Given the description of an element on the screen output the (x, y) to click on. 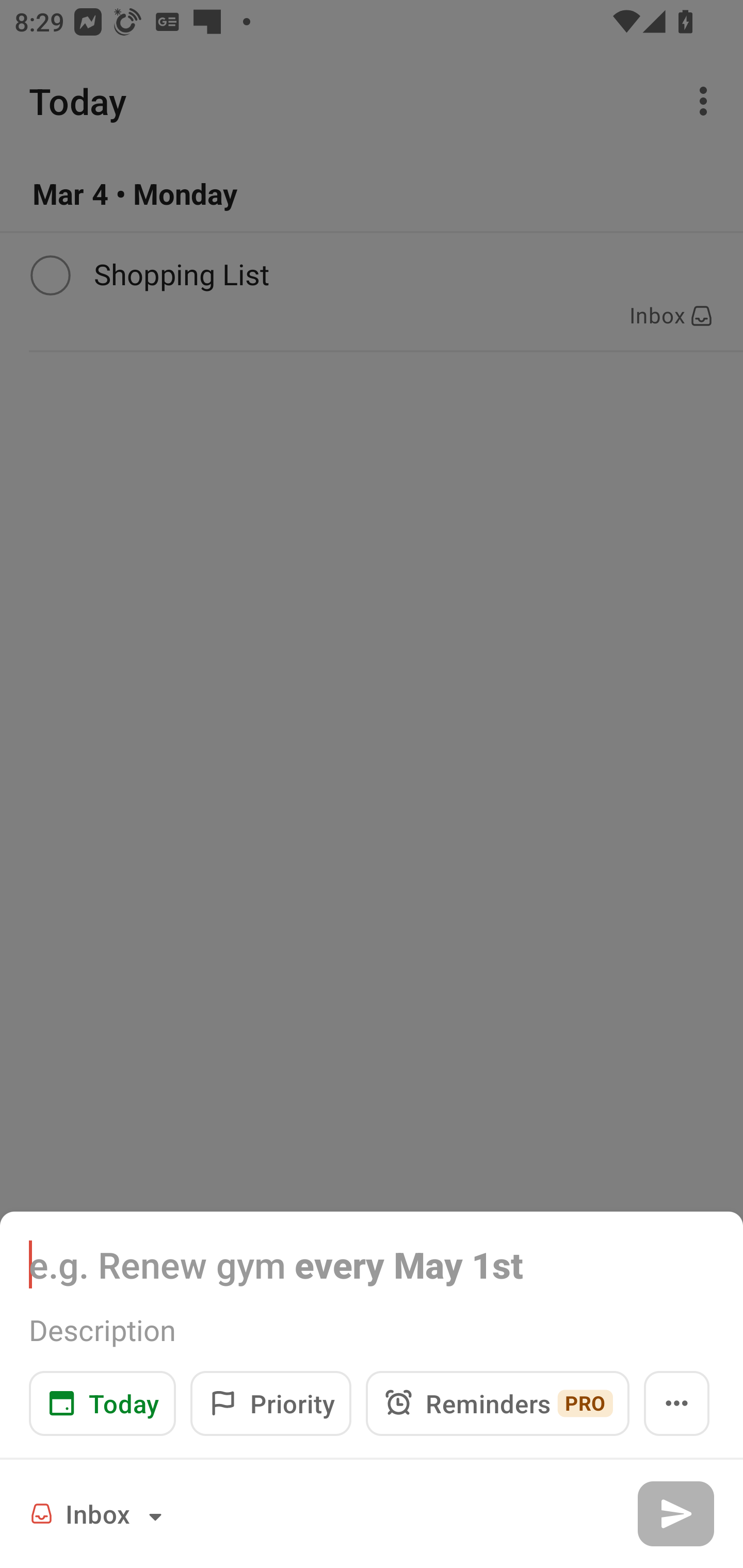
e.g. Renew gym every May 1st (371, 1264)
Description (371, 1330)
Today Date (102, 1403)
Priority (270, 1403)
Reminders PRO Reminders (497, 1403)
Open menu (676, 1403)
Inbox Project (99, 1513)
Add (675, 1513)
